Given the description of an element on the screen output the (x, y) to click on. 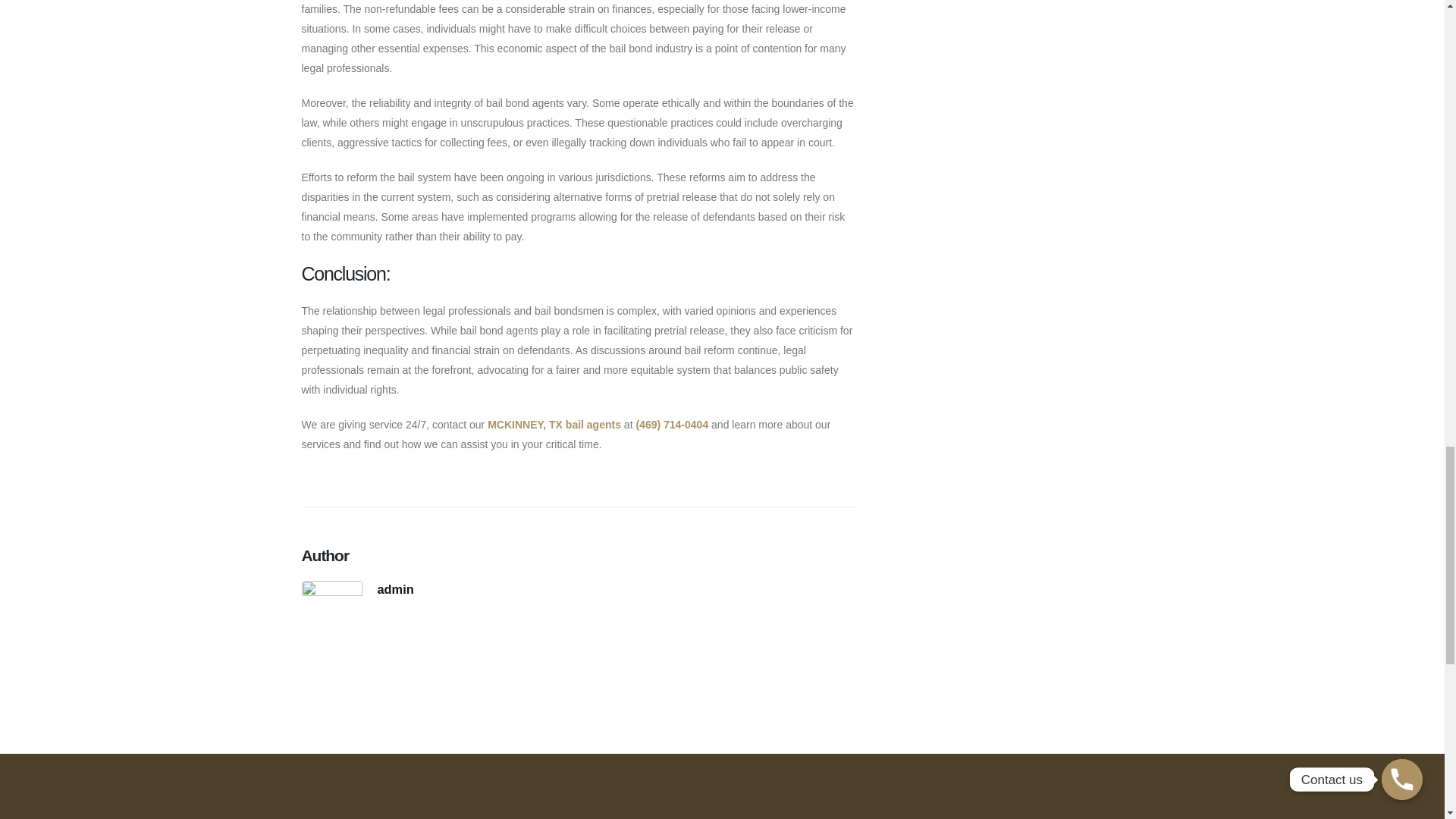
Posts by admin (395, 589)
